Given the description of an element on the screen output the (x, y) to click on. 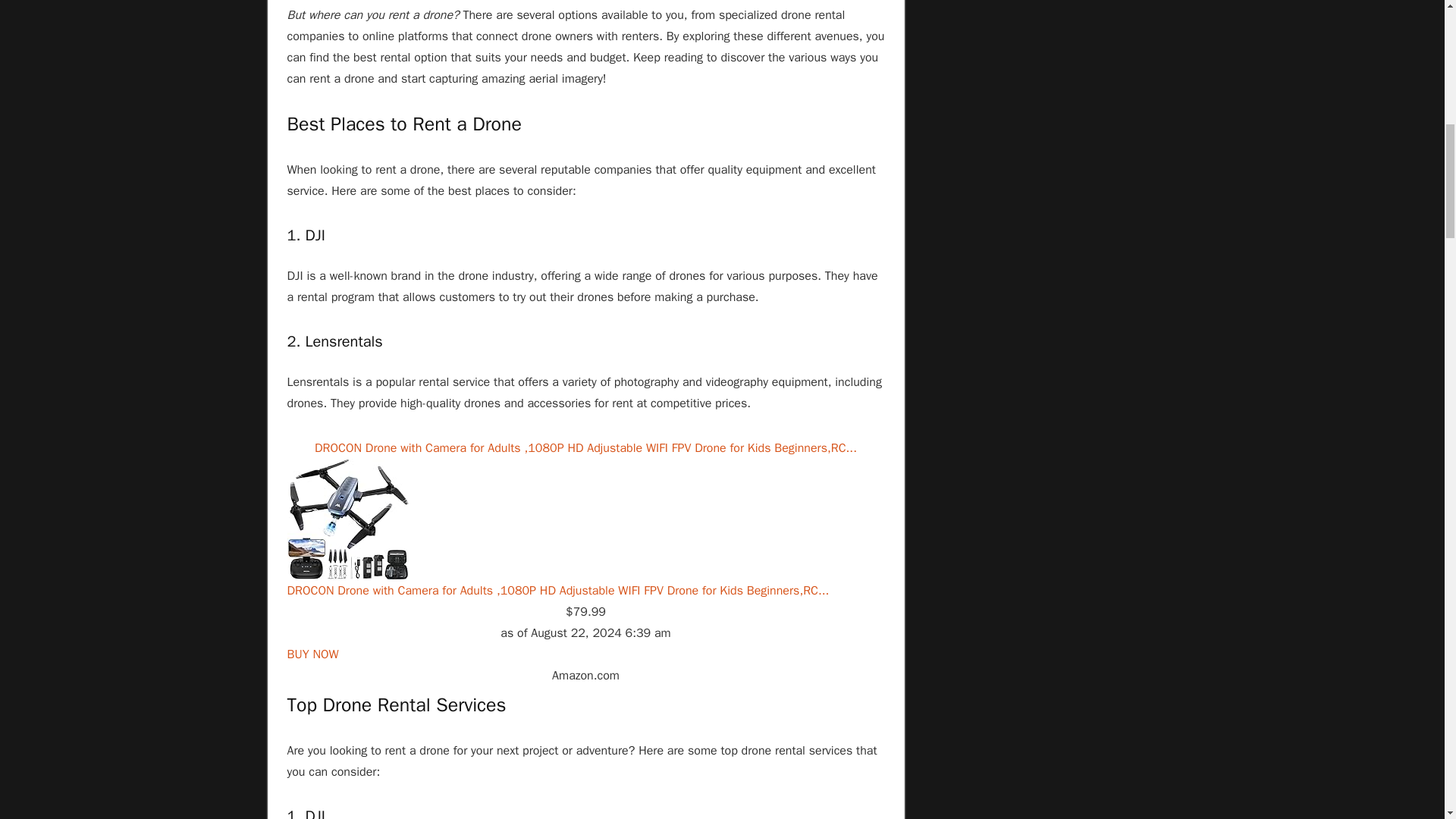
BUY NOW (311, 654)
